Given the description of an element on the screen output the (x, y) to click on. 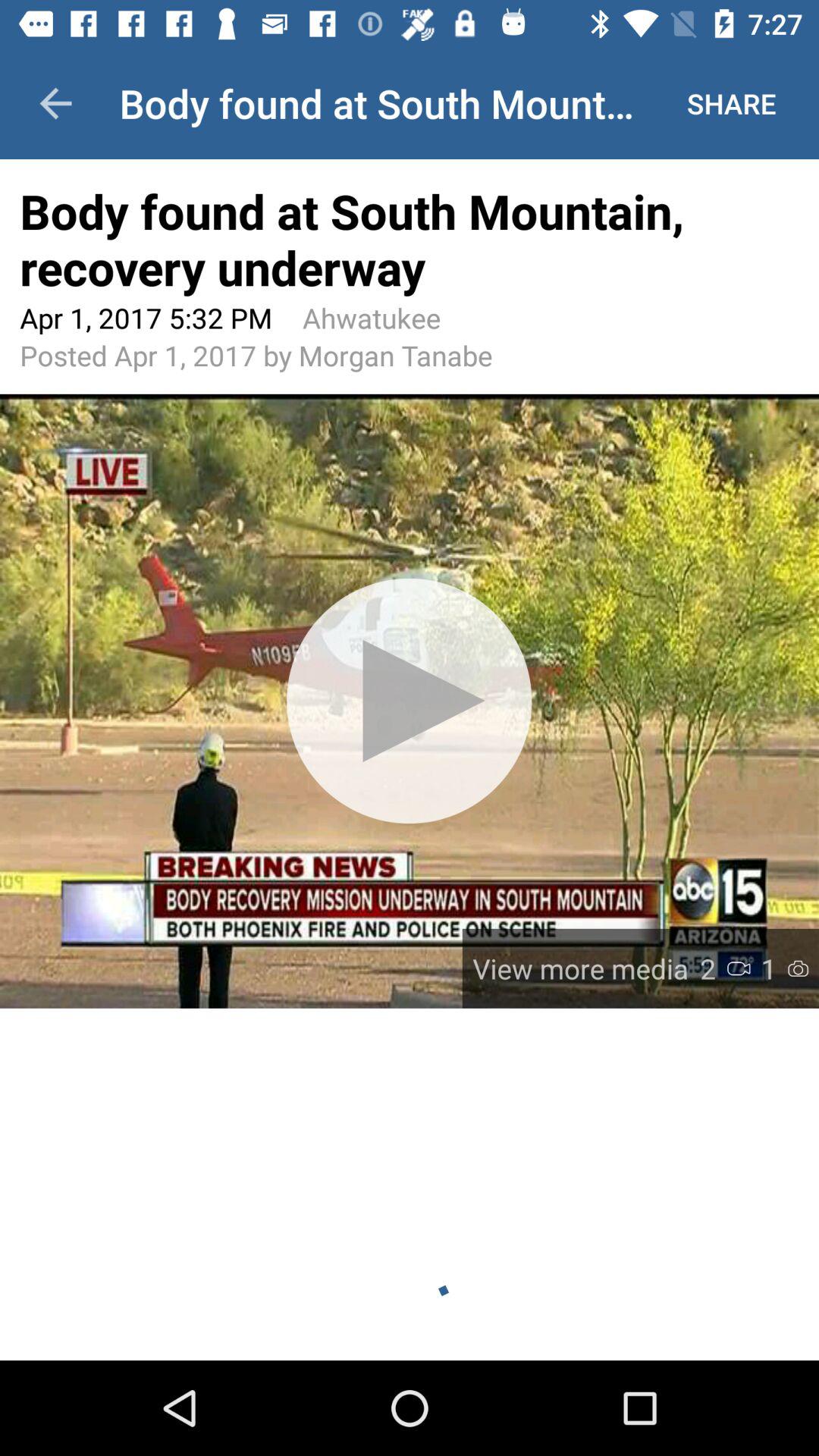
click the app to the right of body found at item (731, 103)
